Given the description of an element on the screen output the (x, y) to click on. 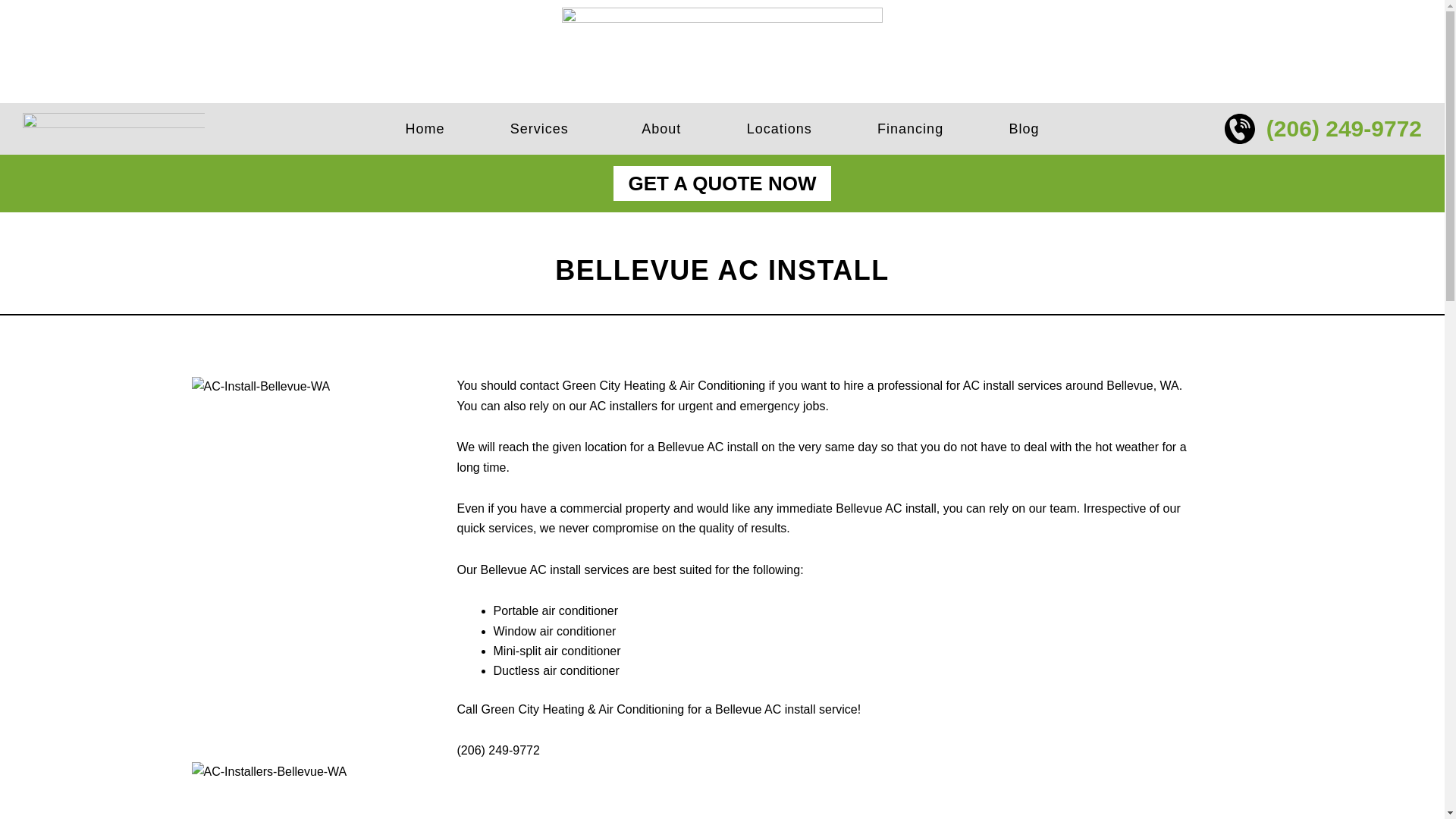
Financing (909, 128)
Services (542, 128)
Home (424, 128)
GET A QUOTE NOW (721, 183)
Blog (1023, 128)
About (660, 128)
Locations (778, 128)
